Given the description of an element on the screen output the (x, y) to click on. 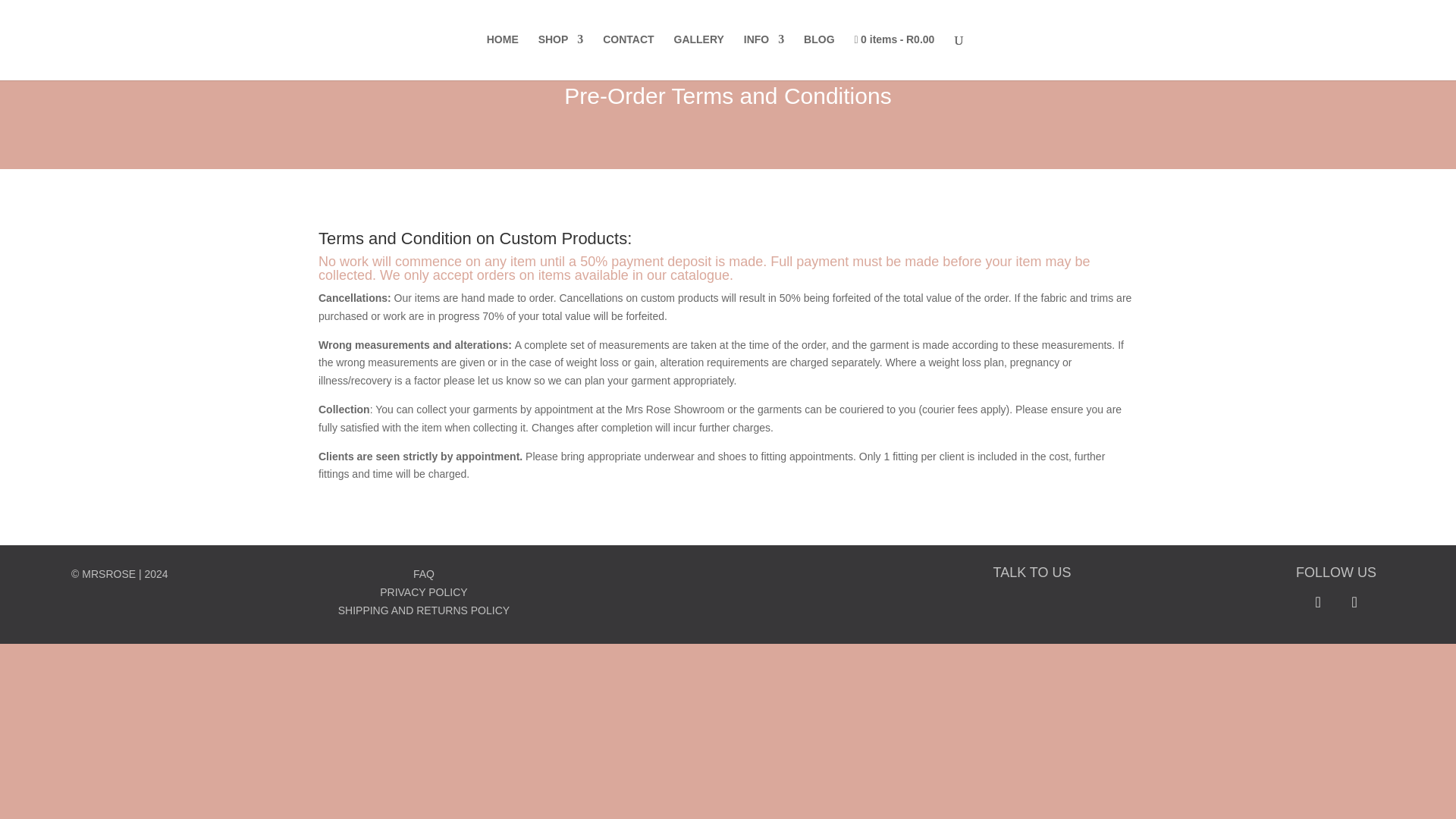
CONTACT (627, 56)
Start shopping (893, 57)
Follow on Instagram (1354, 602)
Follow on Facebook (1318, 602)
SHOP (560, 56)
0 itemsR0.00 (893, 57)
INFO (764, 56)
GALLERY (697, 56)
